Given the description of an element on the screen output the (x, y) to click on. 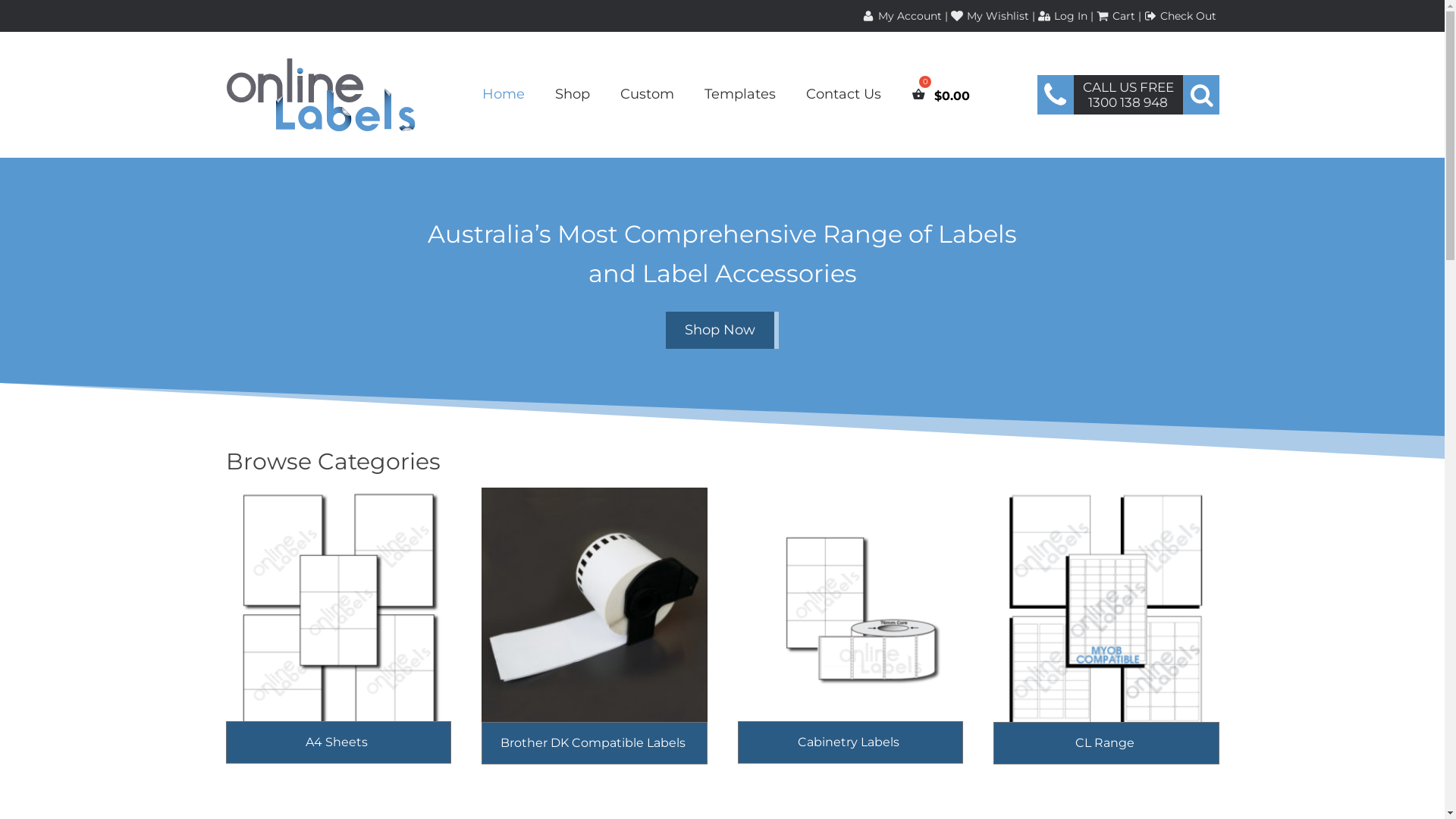
Templates Element type: text (739, 93)
Cabinetry Labels (3) Element type: text (850, 633)
Shop Now Element type: text (721, 329)
Shop Element type: text (572, 93)
Custom Element type: text (647, 93)
Cart |  Element type: text (1120, 15)
CL Range (23) Element type: text (1106, 633)
Log In |  Element type: text (1075, 15)
$0.00 Element type: text (940, 94)
Search Element type: text (31, 13)
My Account |  Element type: text (905, 15)
My Wishlist |  Element type: text (1001, 15)
Home Element type: text (503, 93)
Brother DK Compatible Labels (10) Element type: text (594, 633)
A4 Sheets (185) Element type: text (338, 633)
Contact Us Element type: text (843, 93)
Check Out  Element type: text (1189, 15)
